Given the description of an element on the screen output the (x, y) to click on. 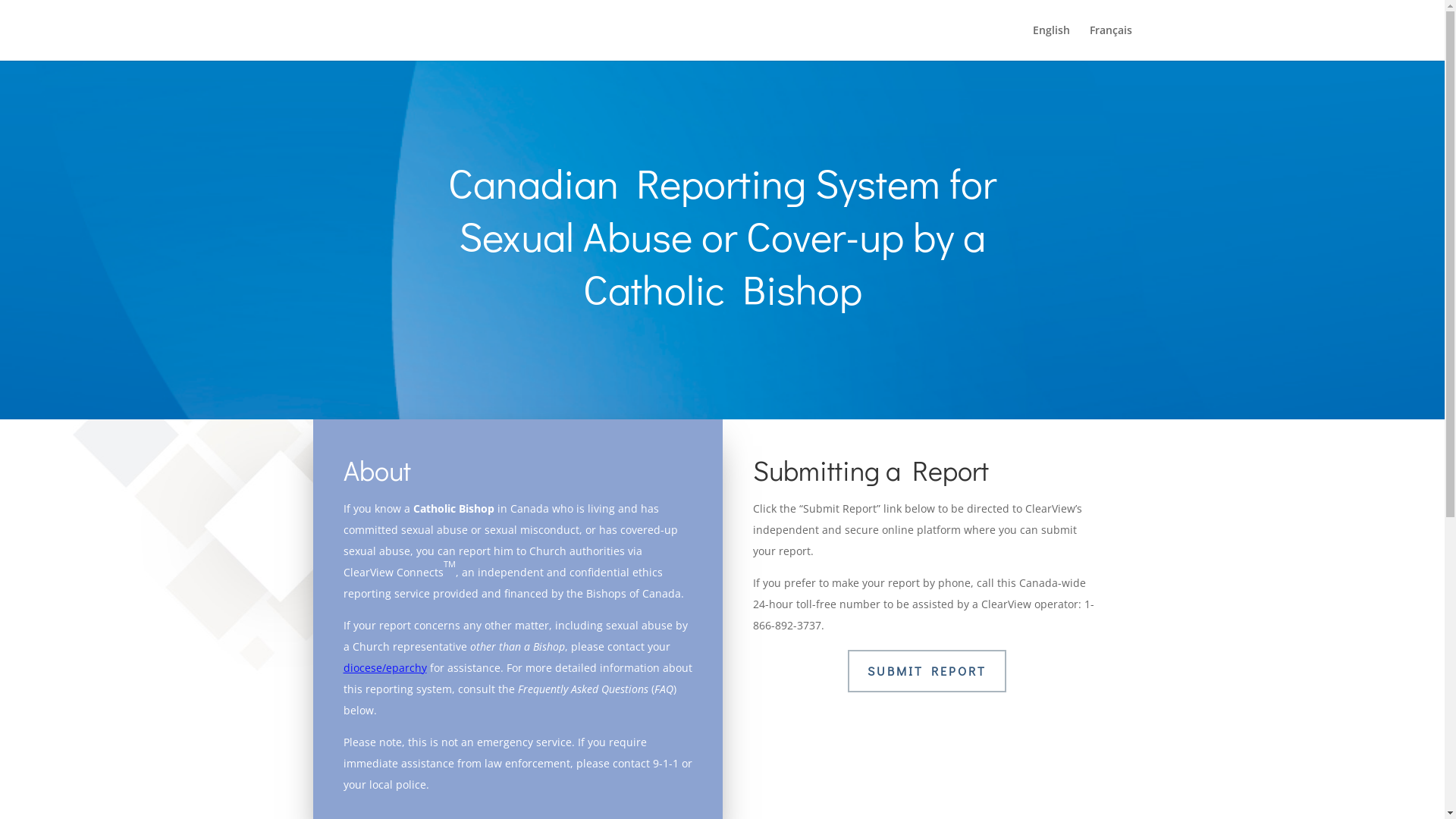
SUBMIT REPORT Element type: text (926, 671)
diocese/eparchy Element type: text (384, 667)
English Element type: text (1051, 42)
